Given the description of an element on the screen output the (x, y) to click on. 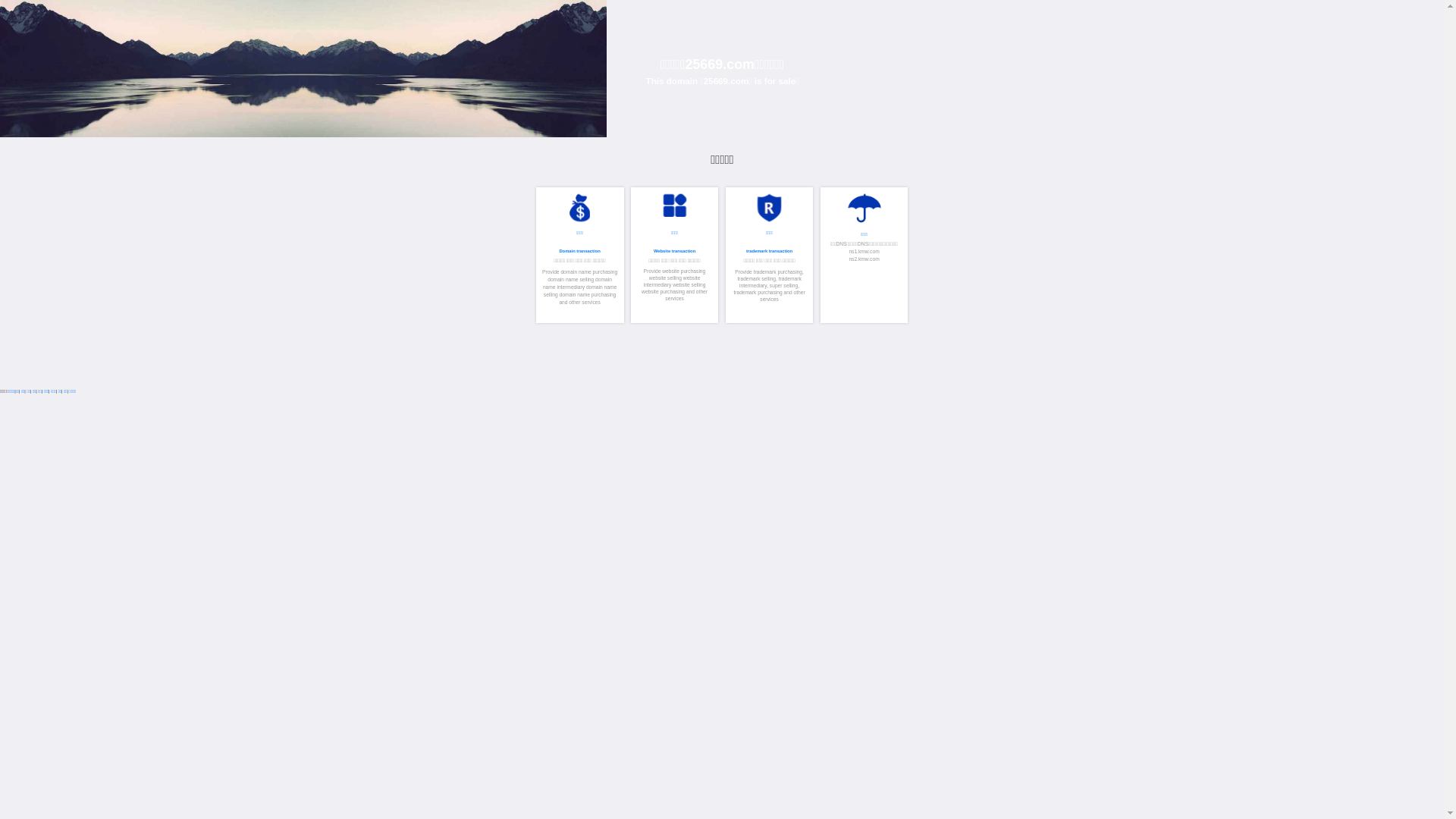
Domain transaction Element type: text (1391, 602)
